Given the description of an element on the screen output the (x, y) to click on. 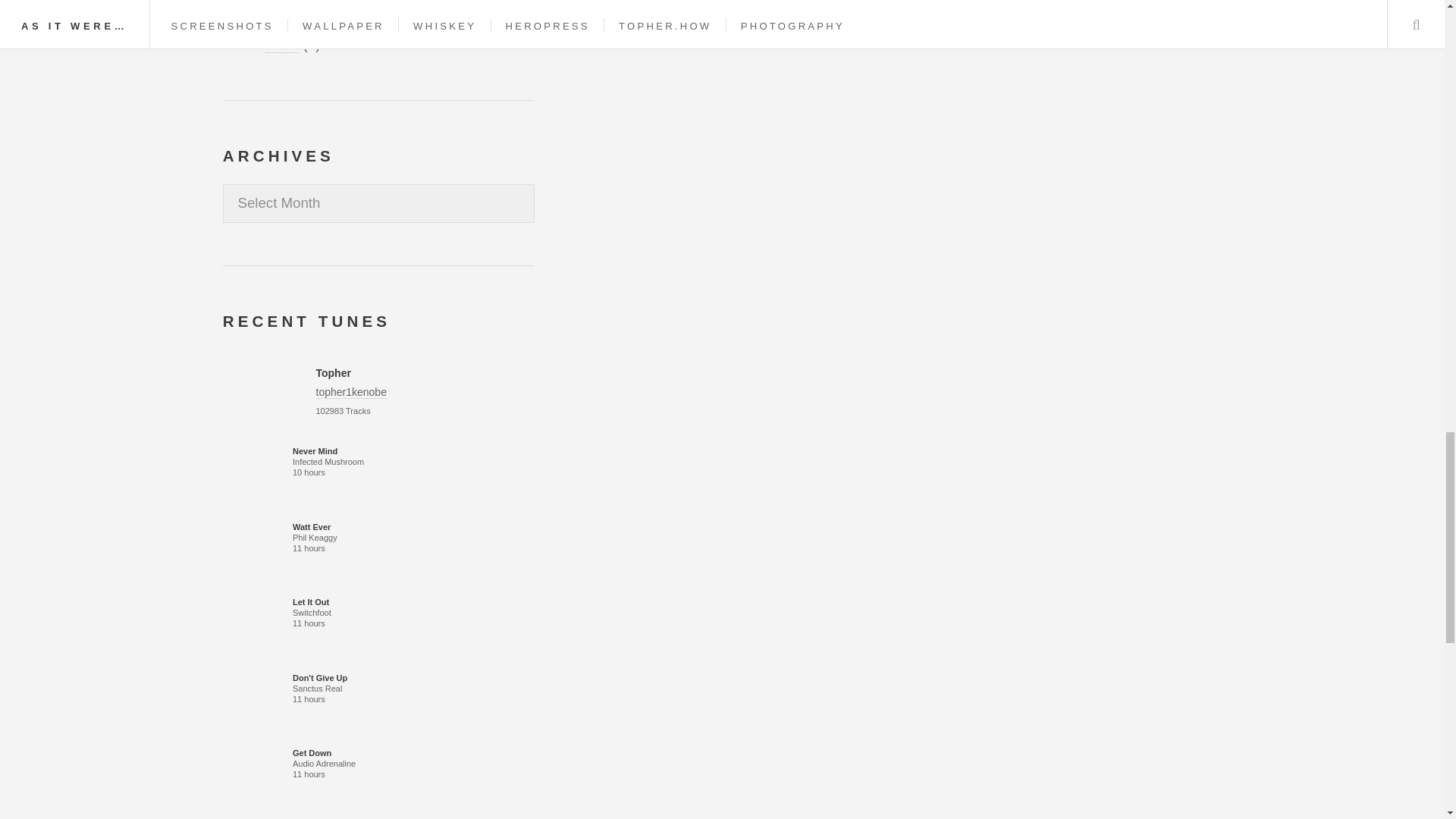
Post Comment (644, 18)
Post Comment (644, 18)
